Given the description of an element on the screen output the (x, y) to click on. 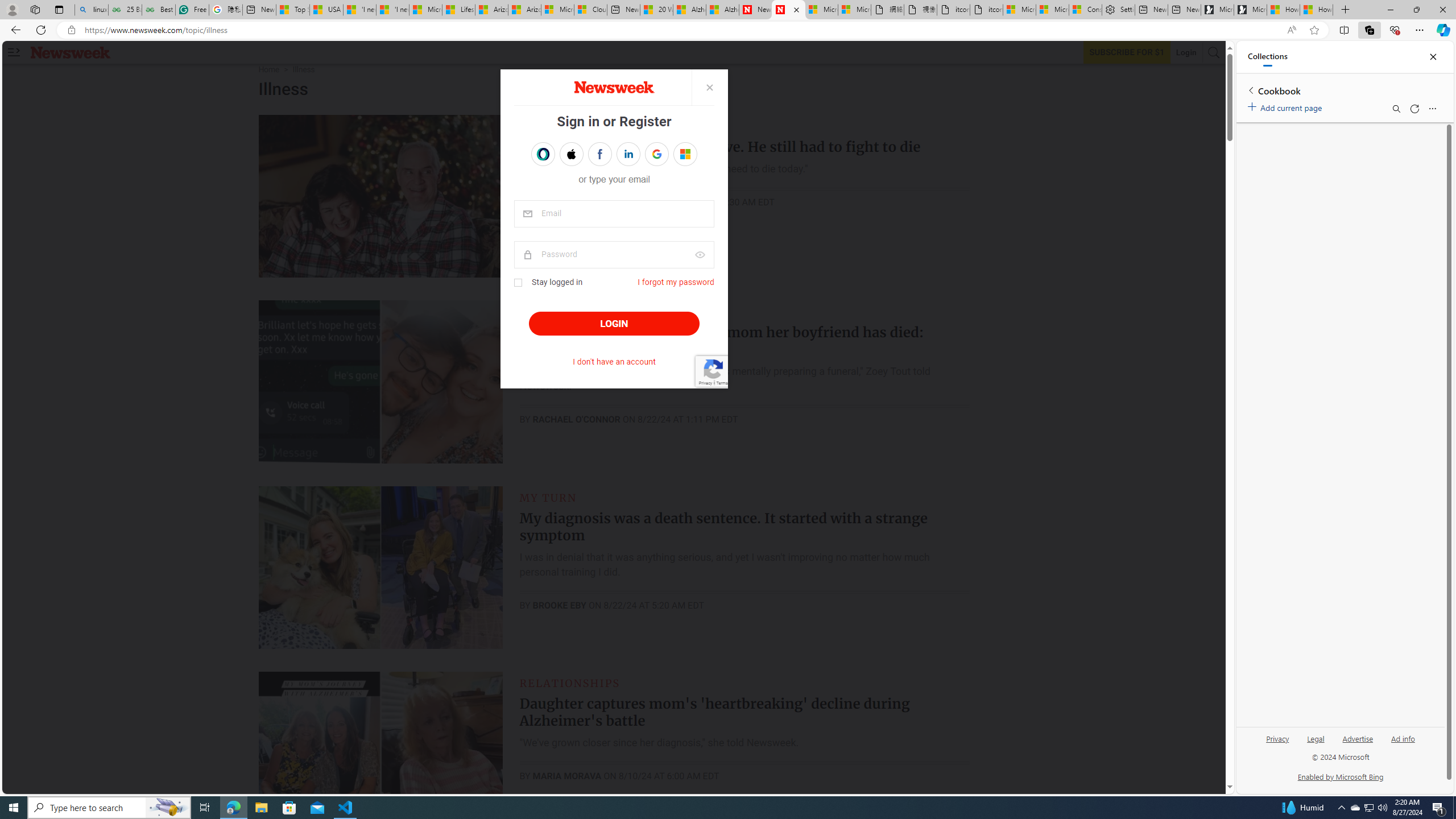
Ad info (1402, 738)
AutomationID: side-arrow (13, 51)
MY TURN (547, 497)
Class: checkbox (517, 282)
More options menu (1432, 108)
20 Ways to Boost Your Protein Intake at Every Meal (656, 9)
Newsweek logo (70, 51)
Microsoft account | Privacy (1052, 9)
Sign in with GOOGLE (656, 154)
